Given the description of an element on the screen output the (x, y) to click on. 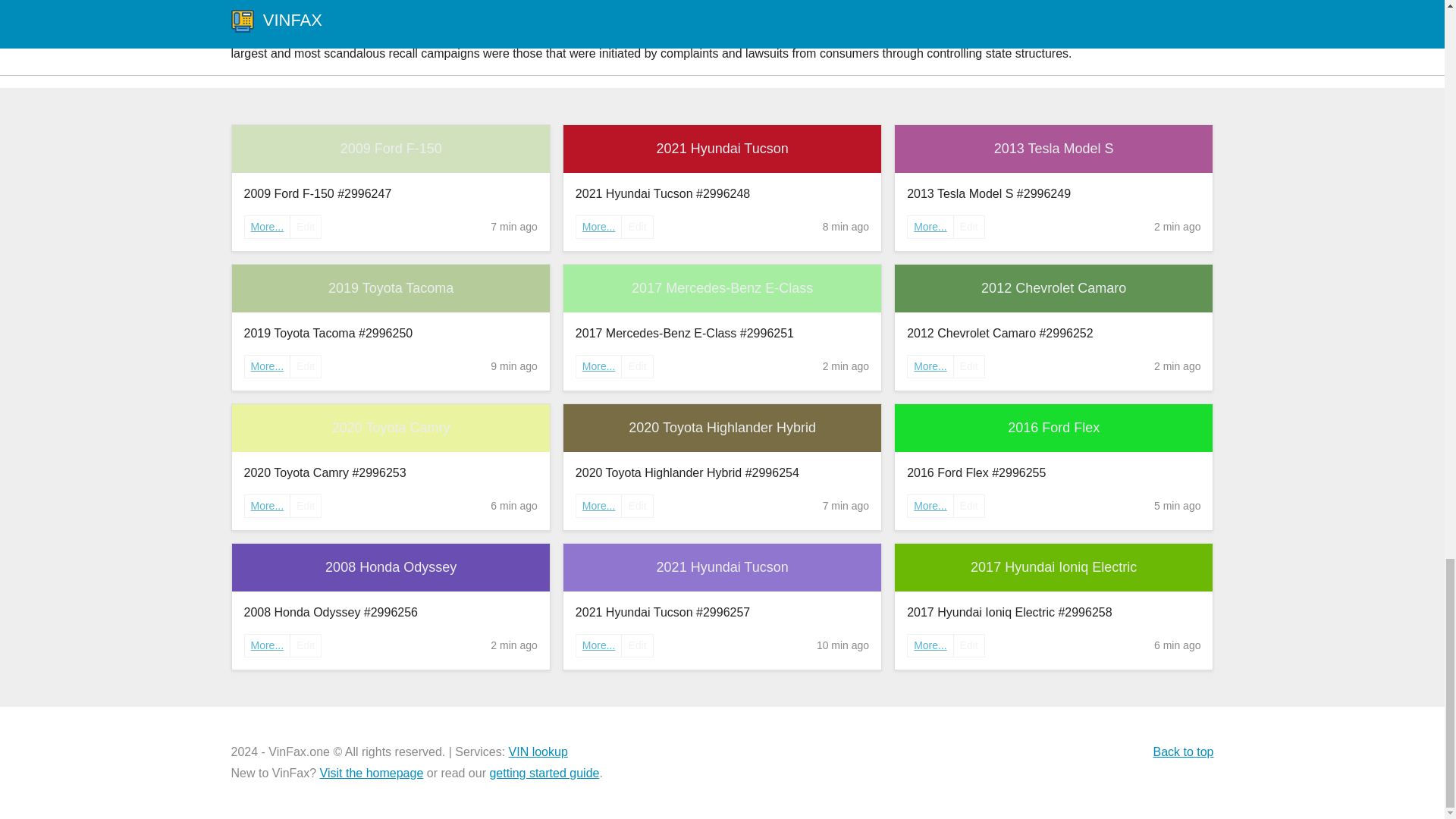
More... (266, 645)
Edit (969, 505)
2013 Tesla Model S (1053, 148)
2017 Mercedes-Benz E-Class (721, 288)
VIN lookup (537, 751)
More... (930, 226)
More... (599, 505)
Edit (636, 505)
More... (599, 366)
More... (266, 505)
